Given the description of an element on the screen output the (x, y) to click on. 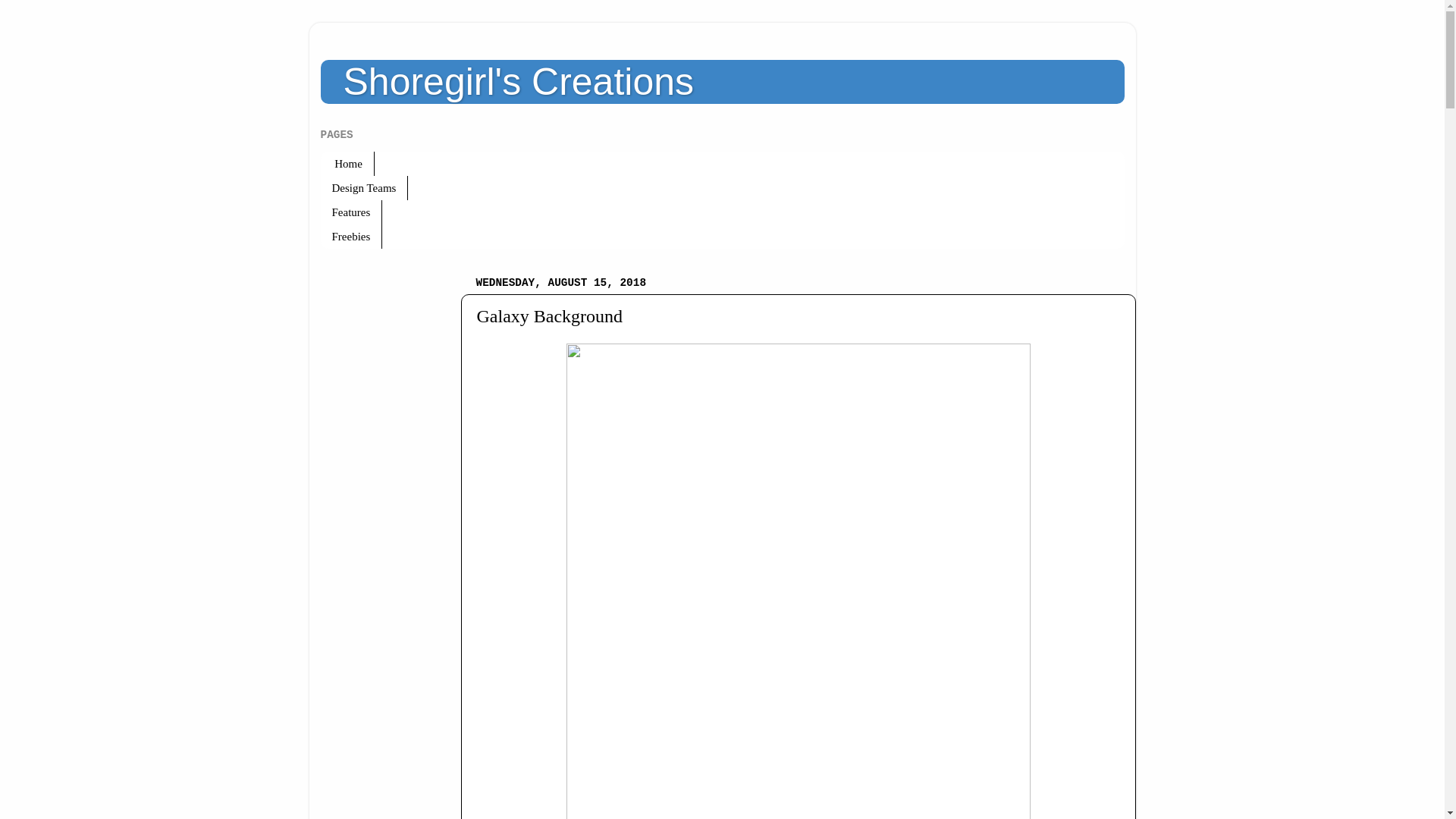
Features (350, 211)
Design Teams (363, 187)
Freebies (350, 236)
Home (347, 163)
Shoregirl's Creations (518, 81)
